Given the description of an element on the screen output the (x, y) to click on. 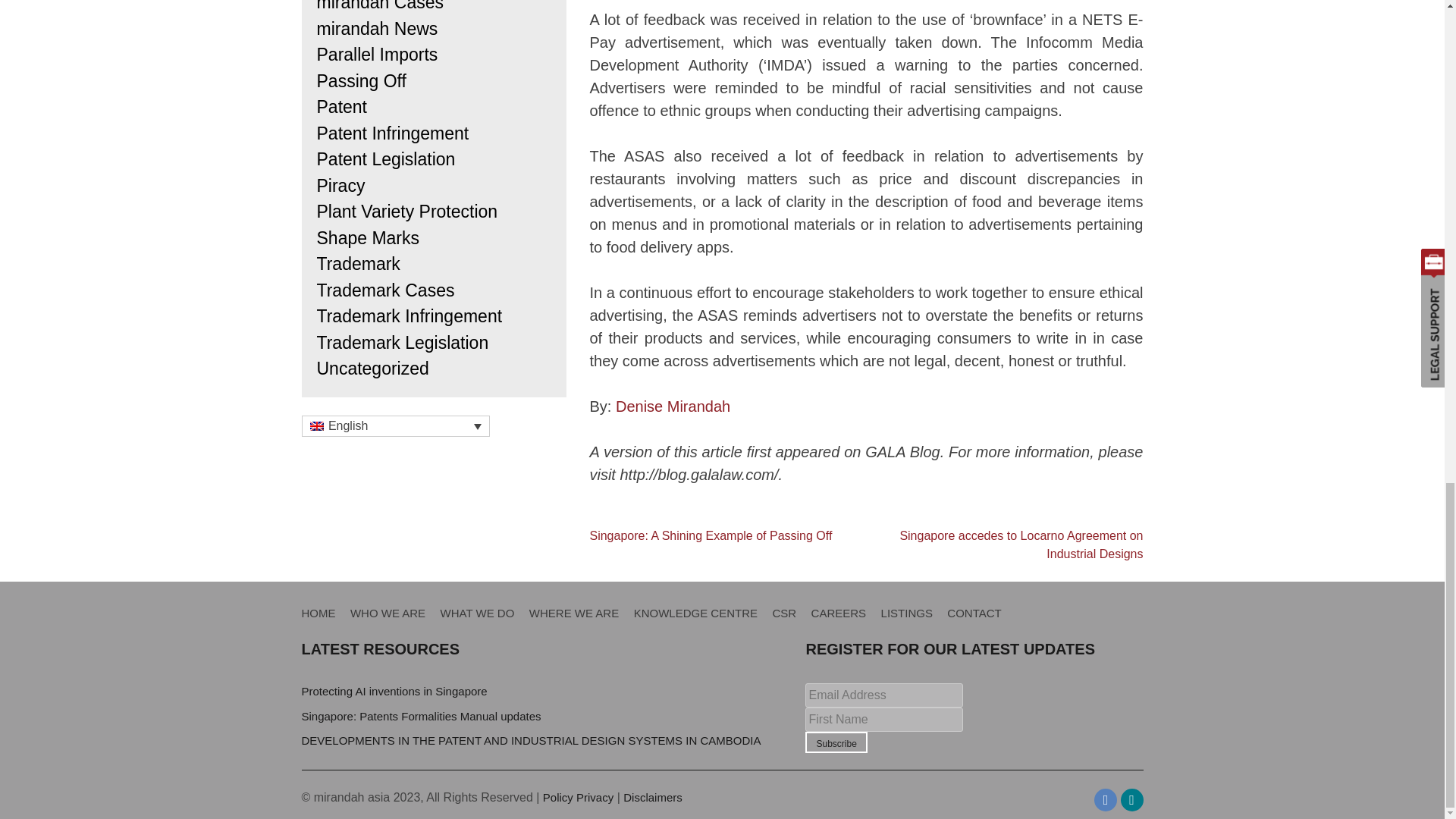
English (315, 425)
Subscribe (835, 742)
